Given the description of an element on the screen output the (x, y) to click on. 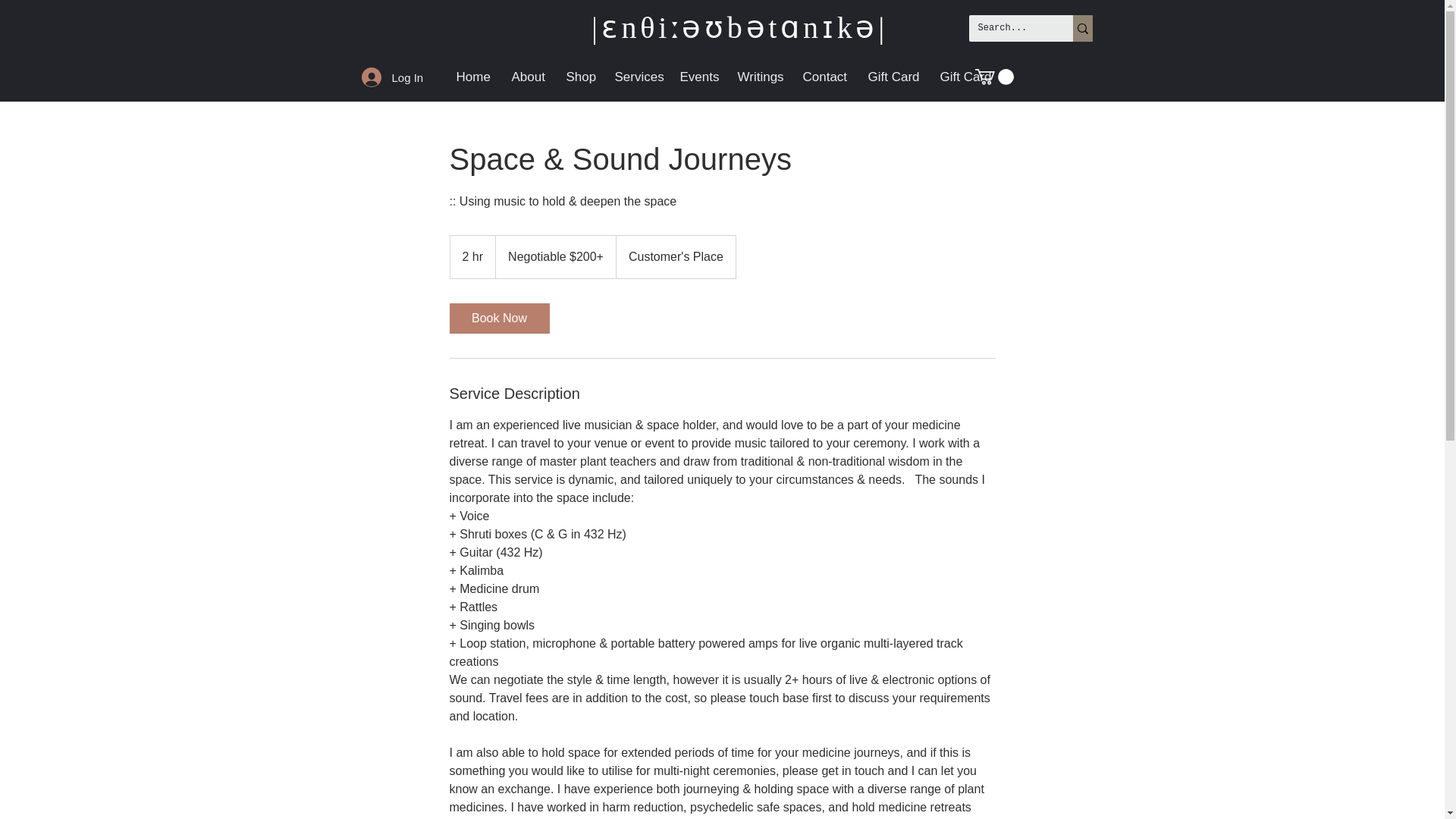
Gift Card (963, 76)
Home (471, 76)
Contact (824, 76)
Log In (381, 77)
Gift Card (892, 76)
Writings (758, 76)
Book Now (498, 318)
Events (696, 76)
